Given the description of an element on the screen output the (x, y) to click on. 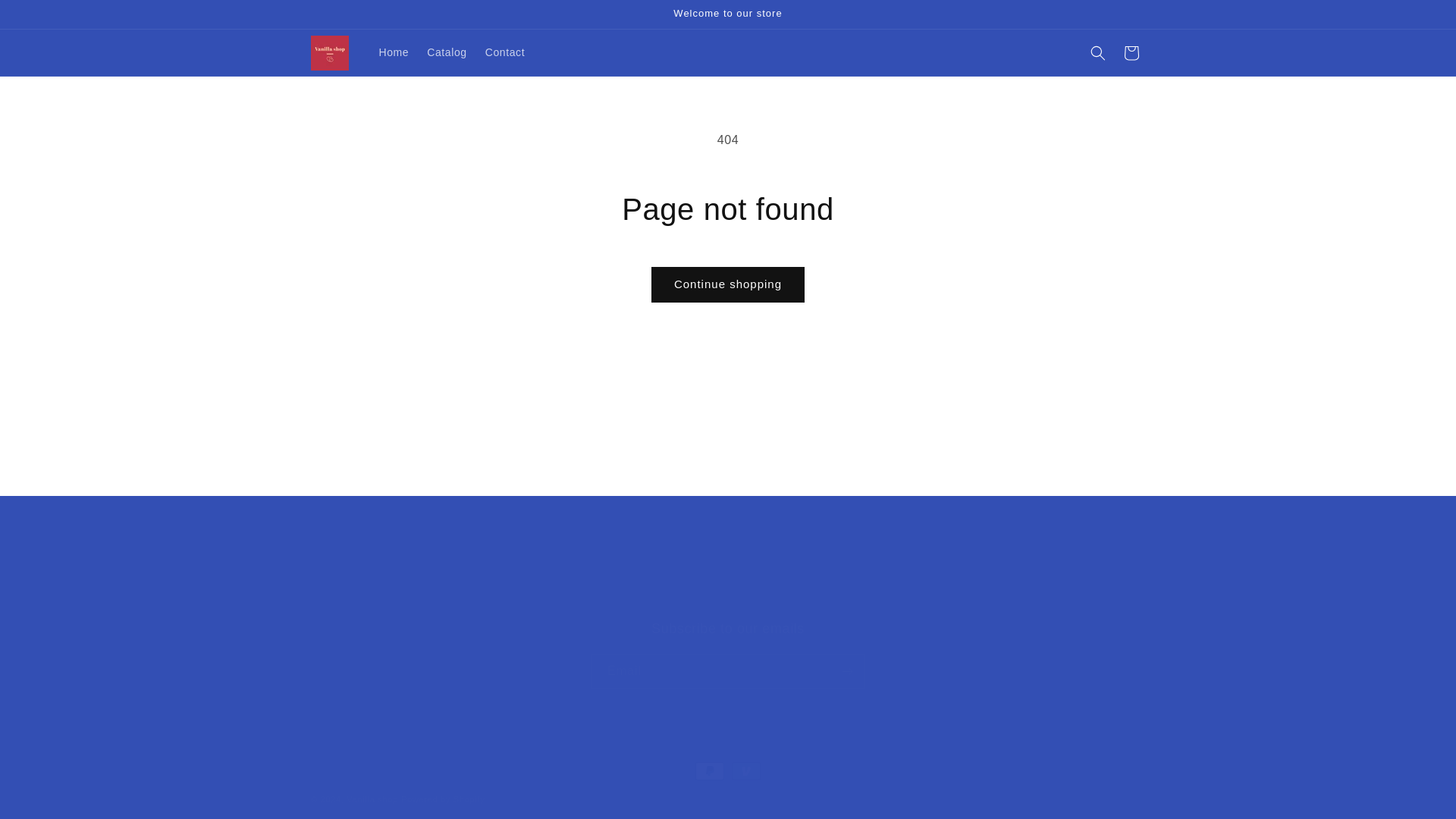
Search (542, 600)
Vanilla shop (727, 653)
Skip to content (371, 798)
Refund Policy (45, 17)
Powered by Shopify (699, 599)
Contact (442, 798)
Catalog (505, 51)
Continue shopping (446, 51)
